Given the description of an element on the screen output the (x, y) to click on. 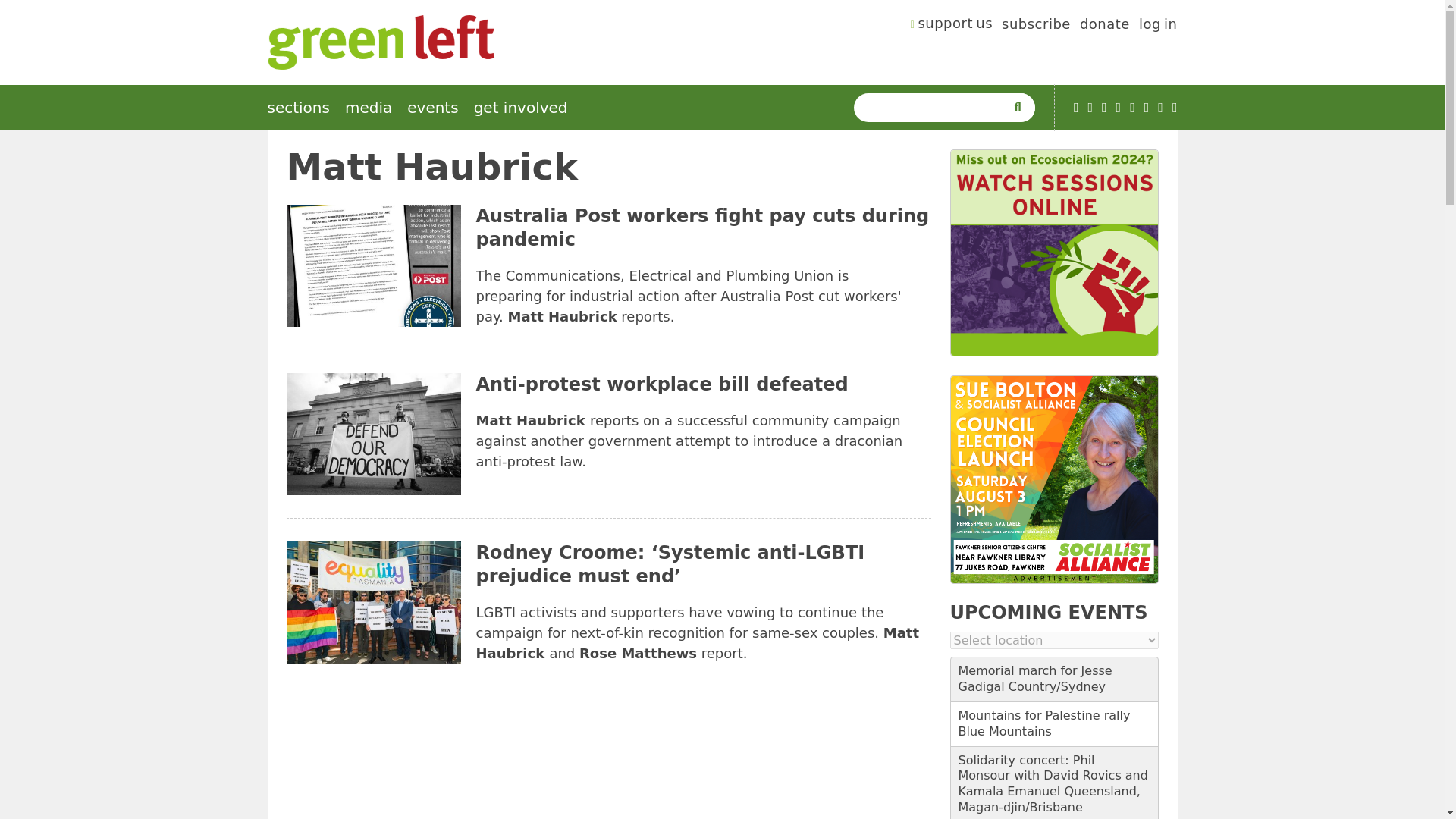
subscribe (1035, 26)
events (432, 107)
log in (1157, 26)
donate (1104, 26)
Enter the terms you wish to search for. (932, 107)
support us (951, 26)
